Given the description of an element on the screen output the (x, y) to click on. 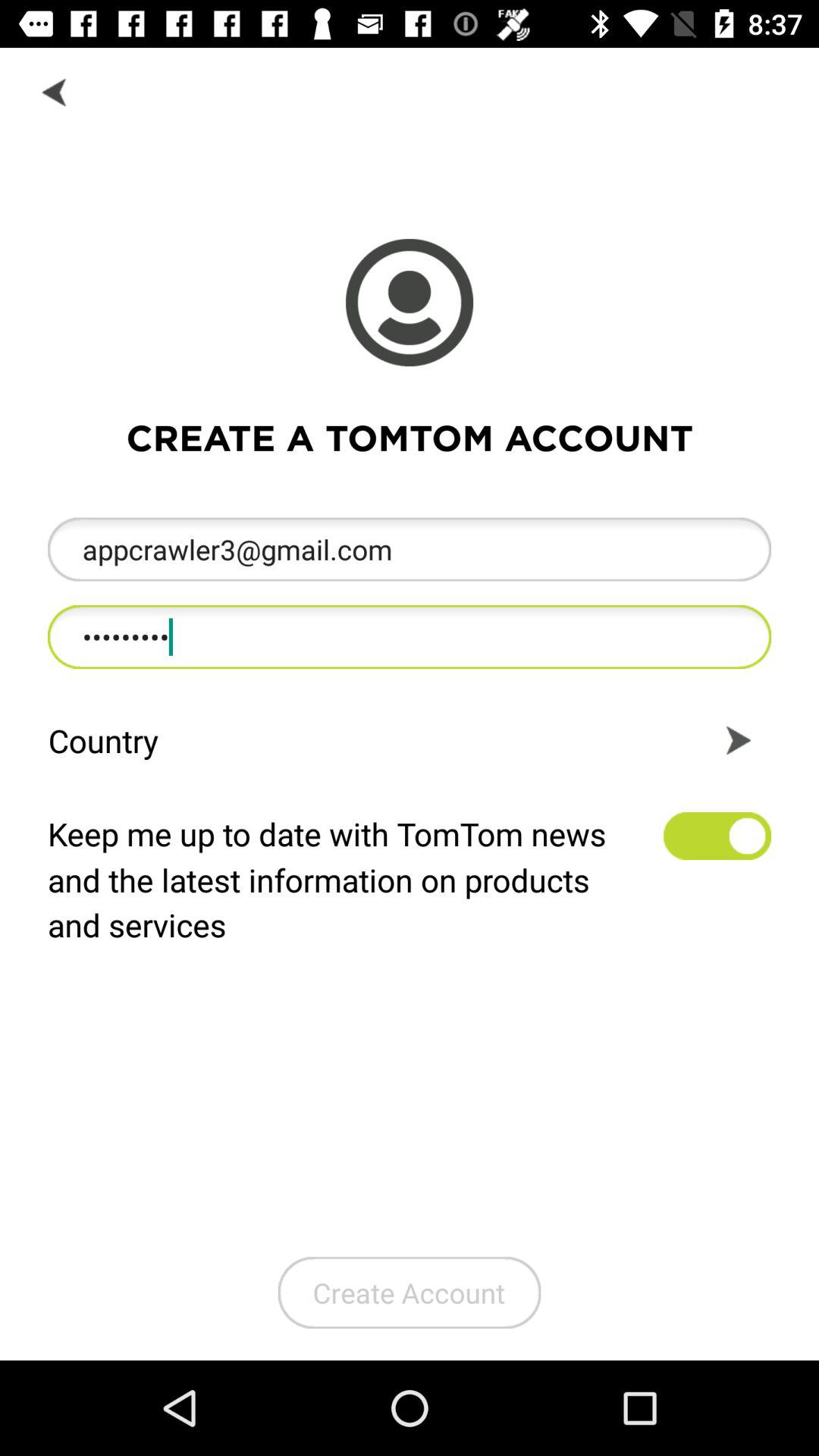
go back (55, 91)
